Given the description of an element on the screen output the (x, y) to click on. 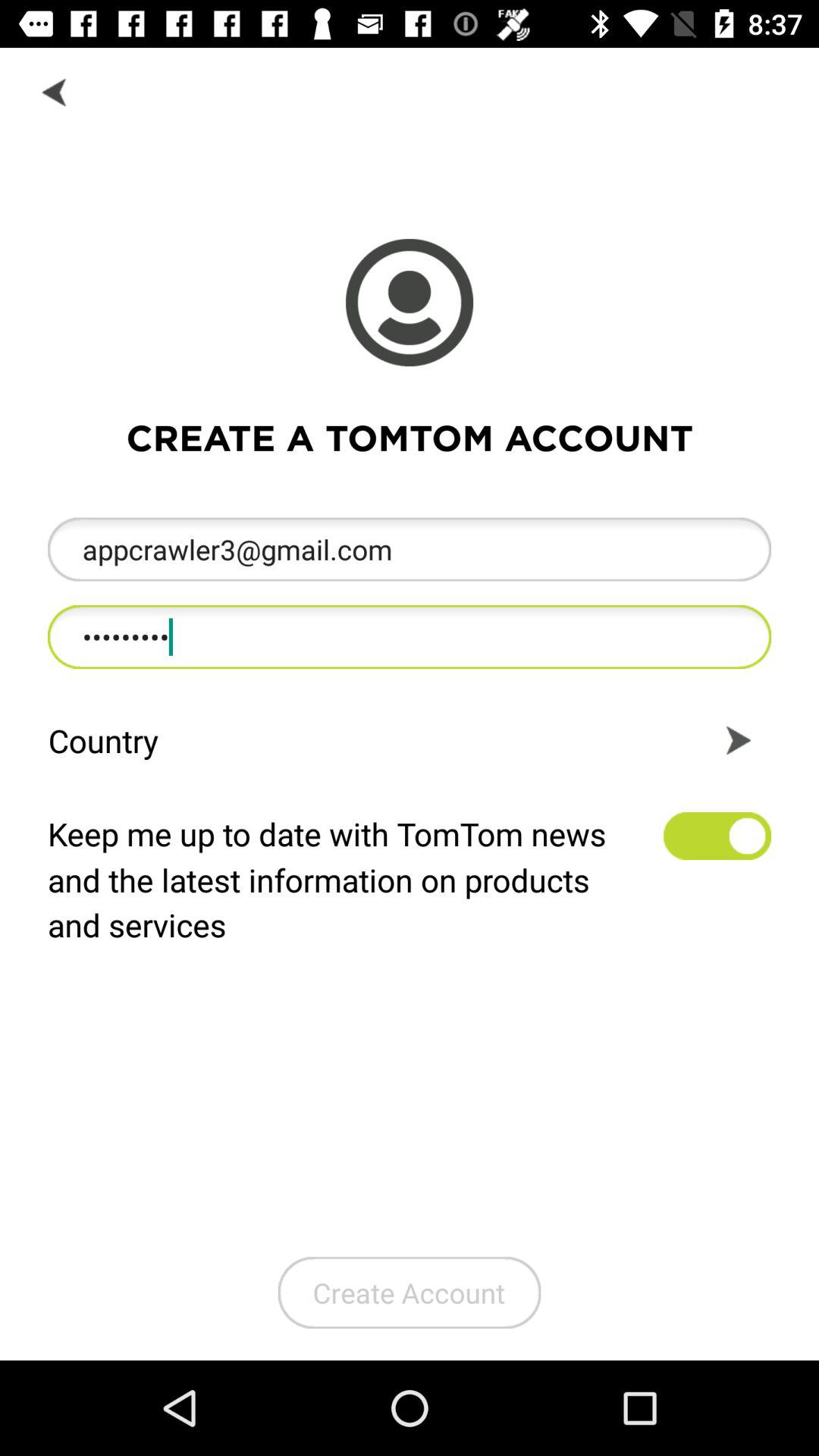
go back (55, 91)
